Given the description of an element on the screen output the (x, y) to click on. 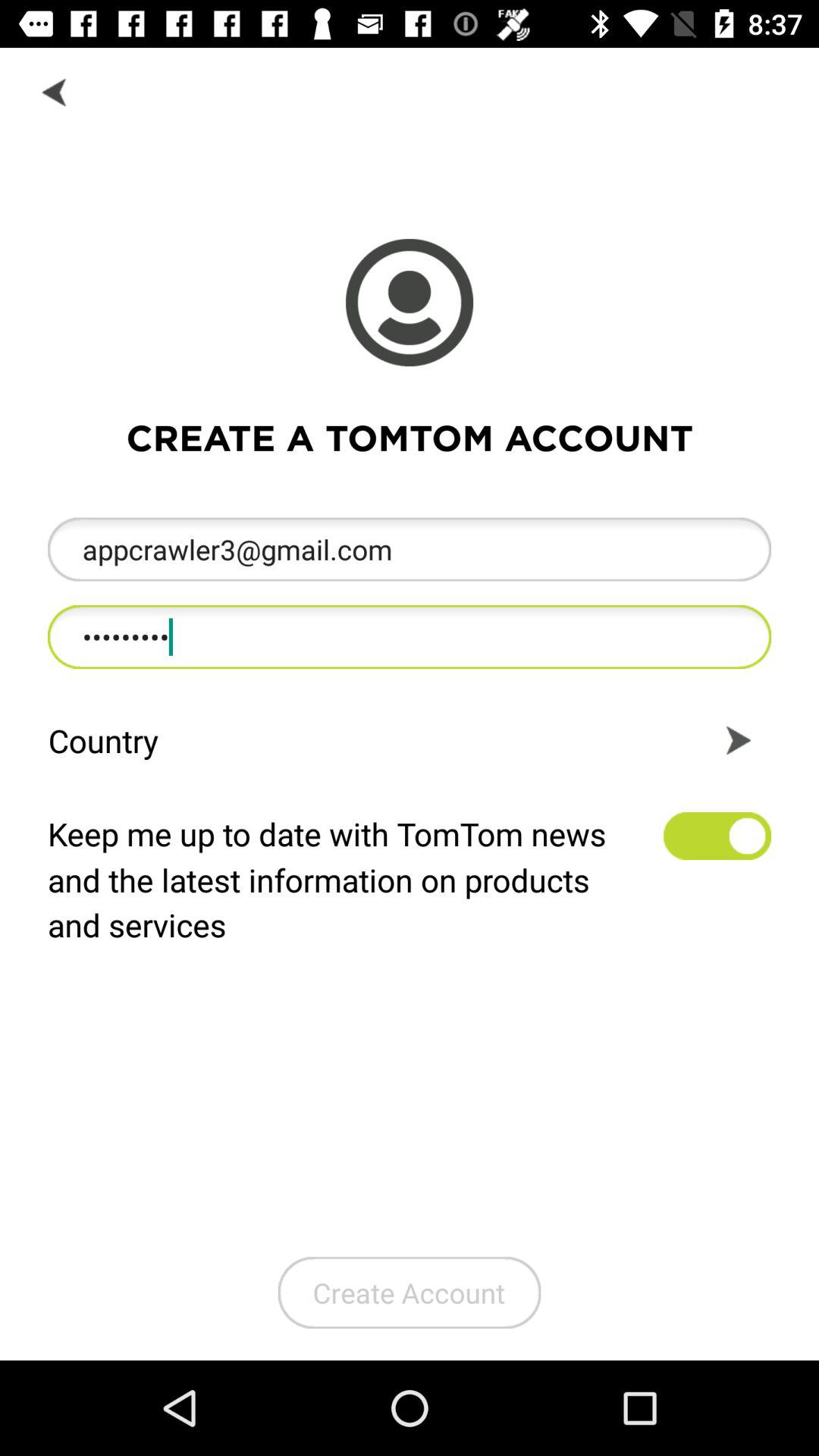
go back (55, 91)
